Given the description of an element on the screen output the (x, y) to click on. 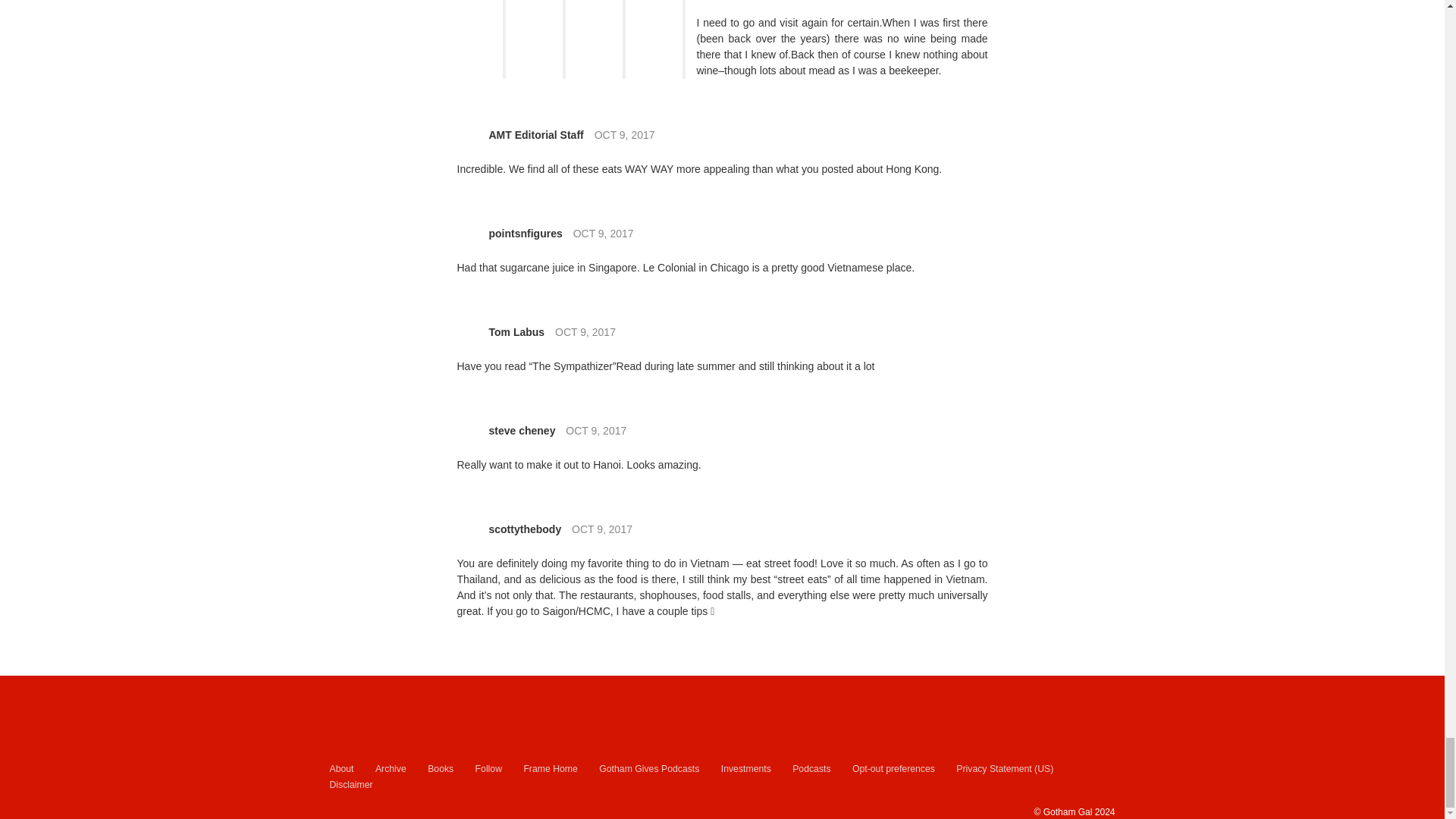
Books (440, 768)
Archive (390, 768)
Follow (489, 768)
Books (440, 768)
Gotham Gives Podcasts (648, 768)
Disclaimer (350, 784)
About (341, 768)
Podcasts (810, 768)
Opt-out preferences (892, 768)
About (341, 768)
Frame Home (549, 768)
Investments (745, 768)
Follow (489, 768)
Archive (390, 768)
Frame Home (549, 768)
